Given the description of an element on the screen output the (x, y) to click on. 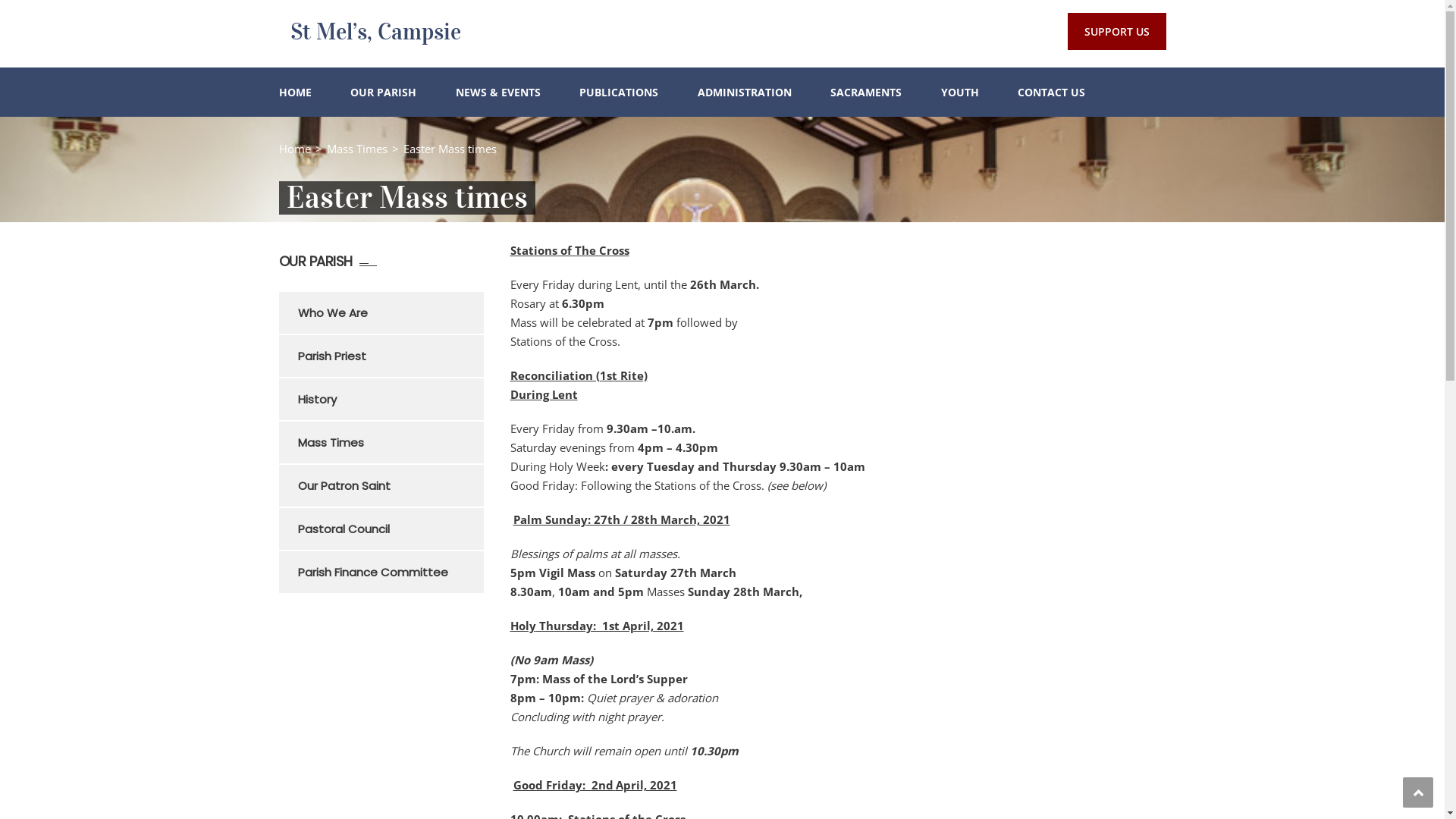
Mass Times Element type: text (356, 148)
Parish Finance Committee Element type: text (390, 572)
SACRAMENTS Element type: text (865, 91)
OUR PARISH Element type: text (383, 91)
History Element type: text (390, 399)
Mass Times Element type: text (390, 442)
ADMINISTRATION Element type: text (744, 91)
HOME Element type: text (295, 91)
NEWS & EVENTS Element type: text (497, 91)
Search Element type: text (1144, 160)
PUBLICATIONS Element type: text (618, 91)
Pastoral Council Element type: text (390, 528)
Home Element type: text (294, 148)
Parish Priest Element type: text (390, 355)
Our Patron Saint Element type: text (390, 485)
SUPPORT US Element type: text (1116, 31)
Who We Are Element type: text (390, 312)
CONTACT US Element type: text (1051, 91)
YOUTH Element type: text (959, 91)
